Given the description of an element on the screen output the (x, y) to click on. 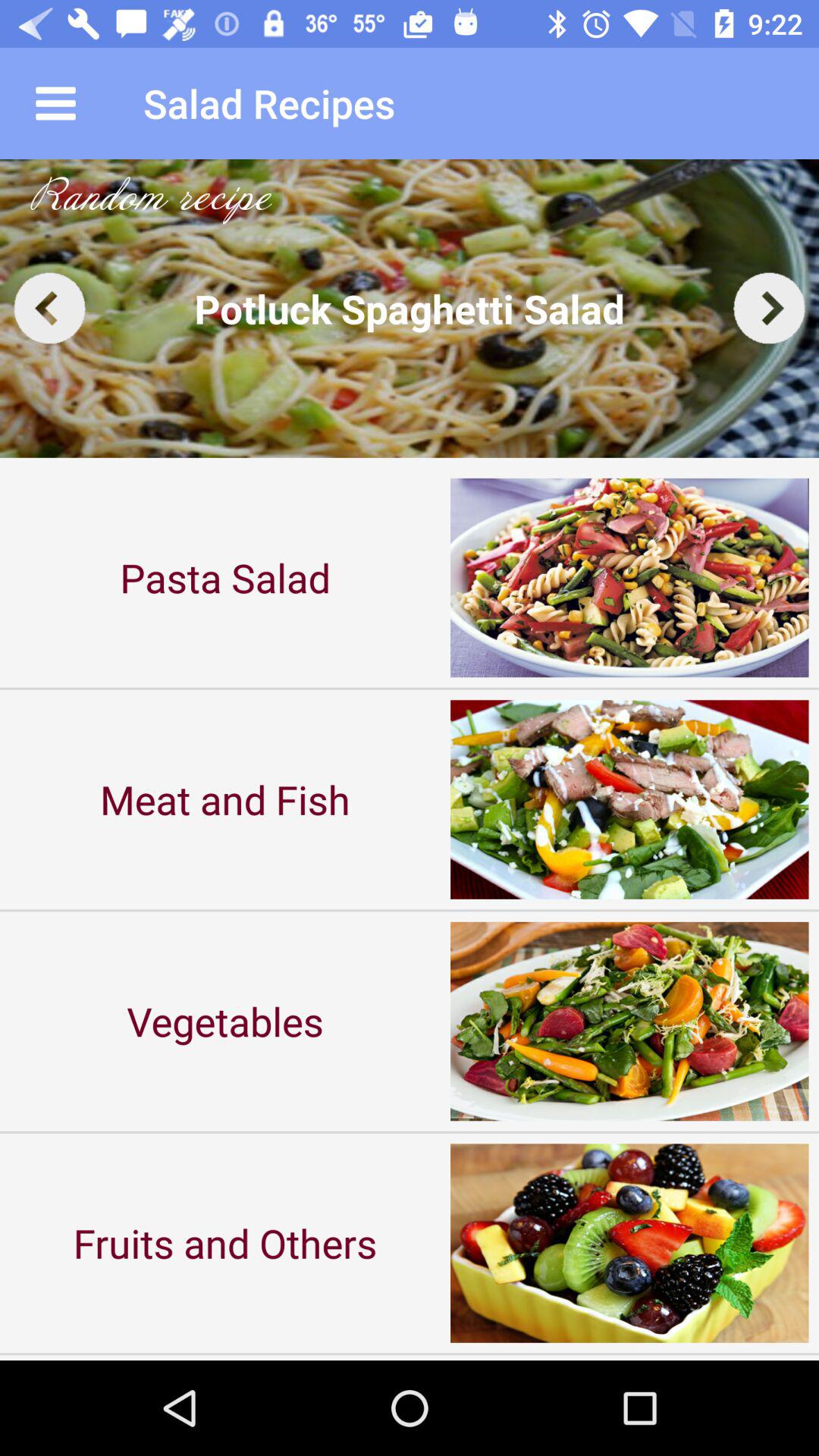
click the meat and fish icon (225, 798)
